Given the description of an element on the screen output the (x, y) to click on. 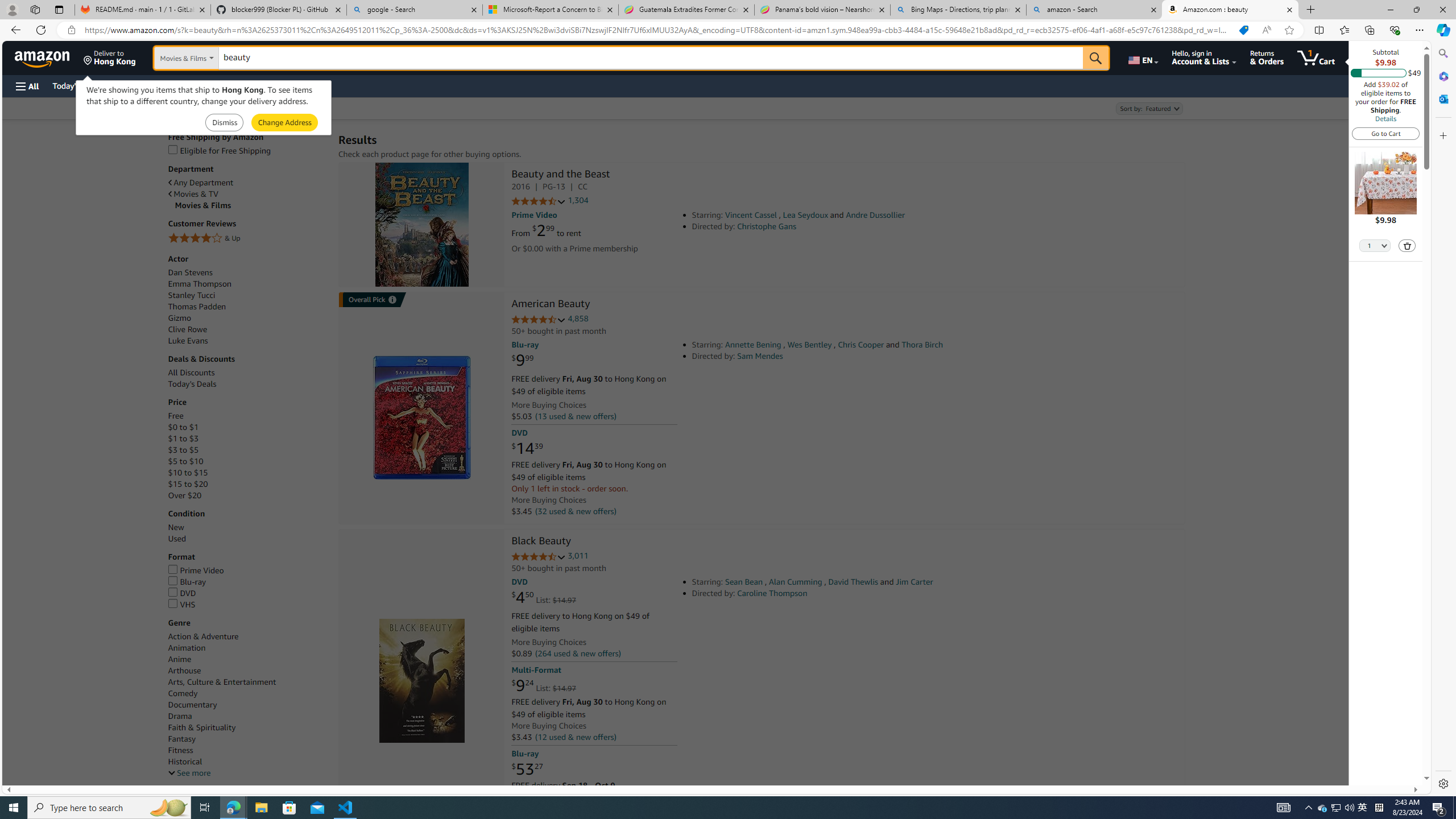
Sean Bean (743, 581)
Alan Cumming (795, 581)
$1 to $3 (247, 438)
Luke Evans (187, 340)
Submit (284, 122)
Anime (247, 659)
1,304 (577, 200)
Movies & TV (247, 194)
Blu-ray (186, 581)
Beauty and the Beast (421, 224)
DVD (247, 593)
American Beauty (421, 417)
